Given the description of an element on the screen output the (x, y) to click on. 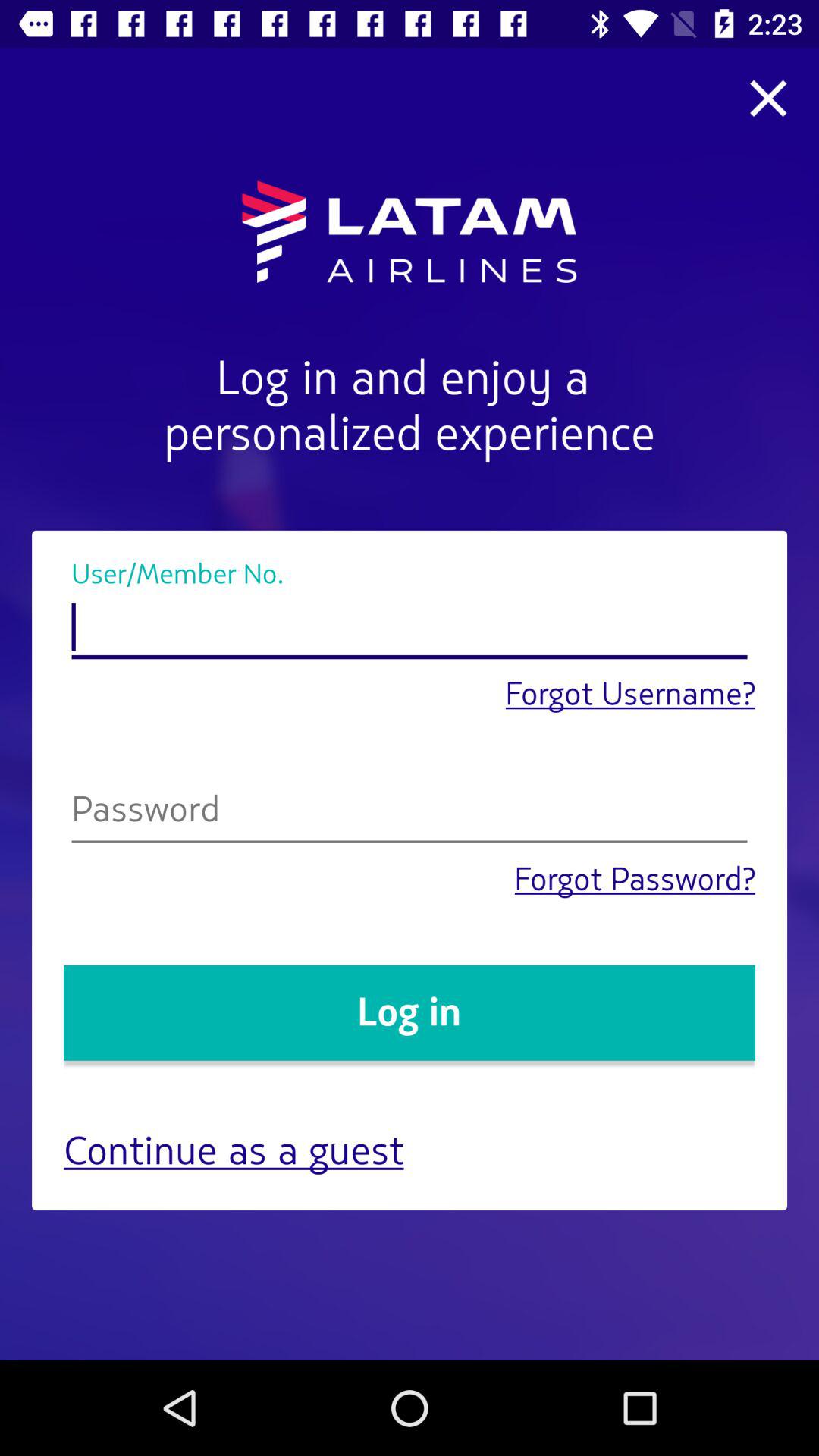
type your password (409, 813)
